Given the description of an element on the screen output the (x, y) to click on. 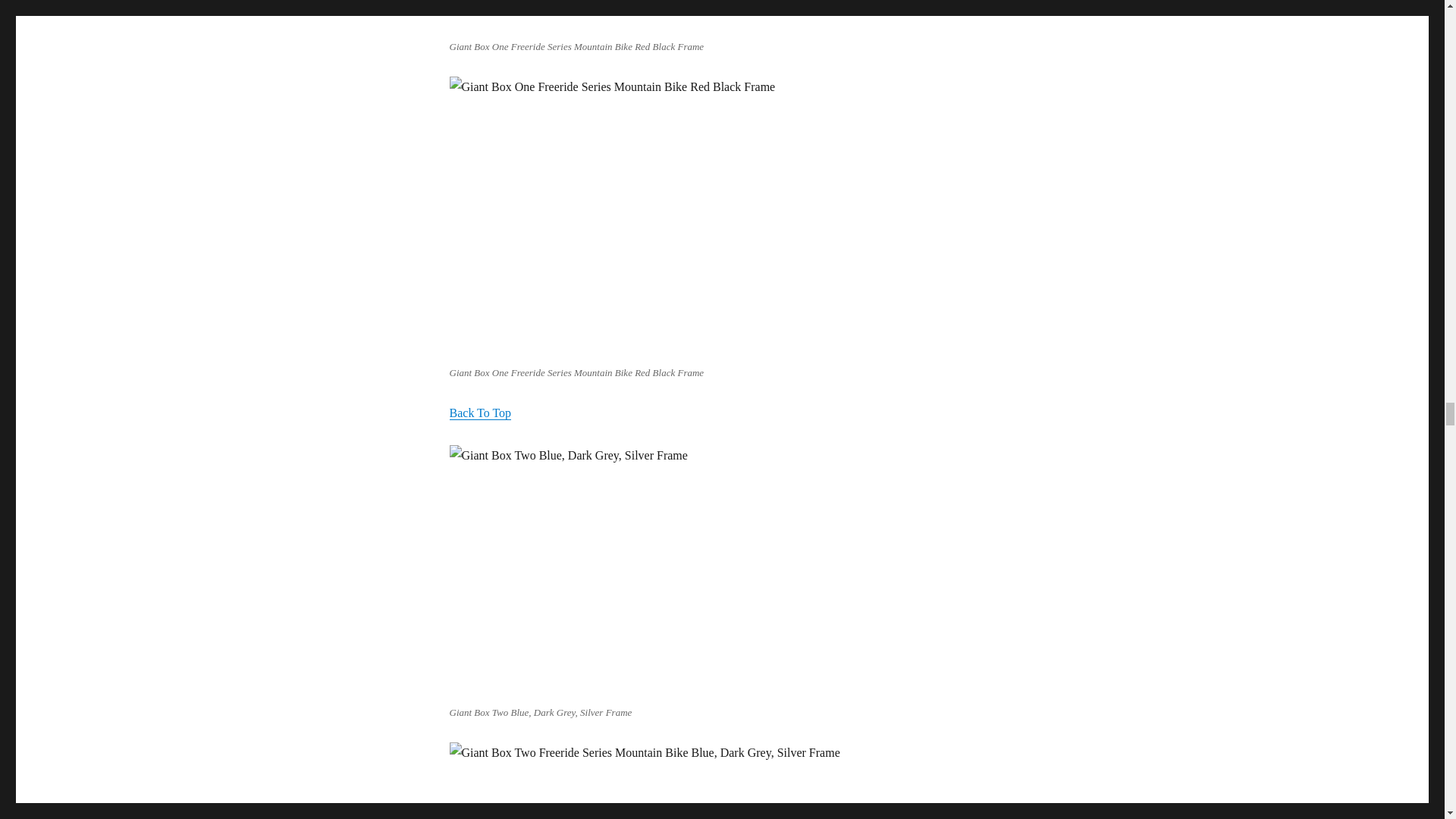
Back To Top (479, 412)
